Given the description of an element on the screen output the (x, y) to click on. 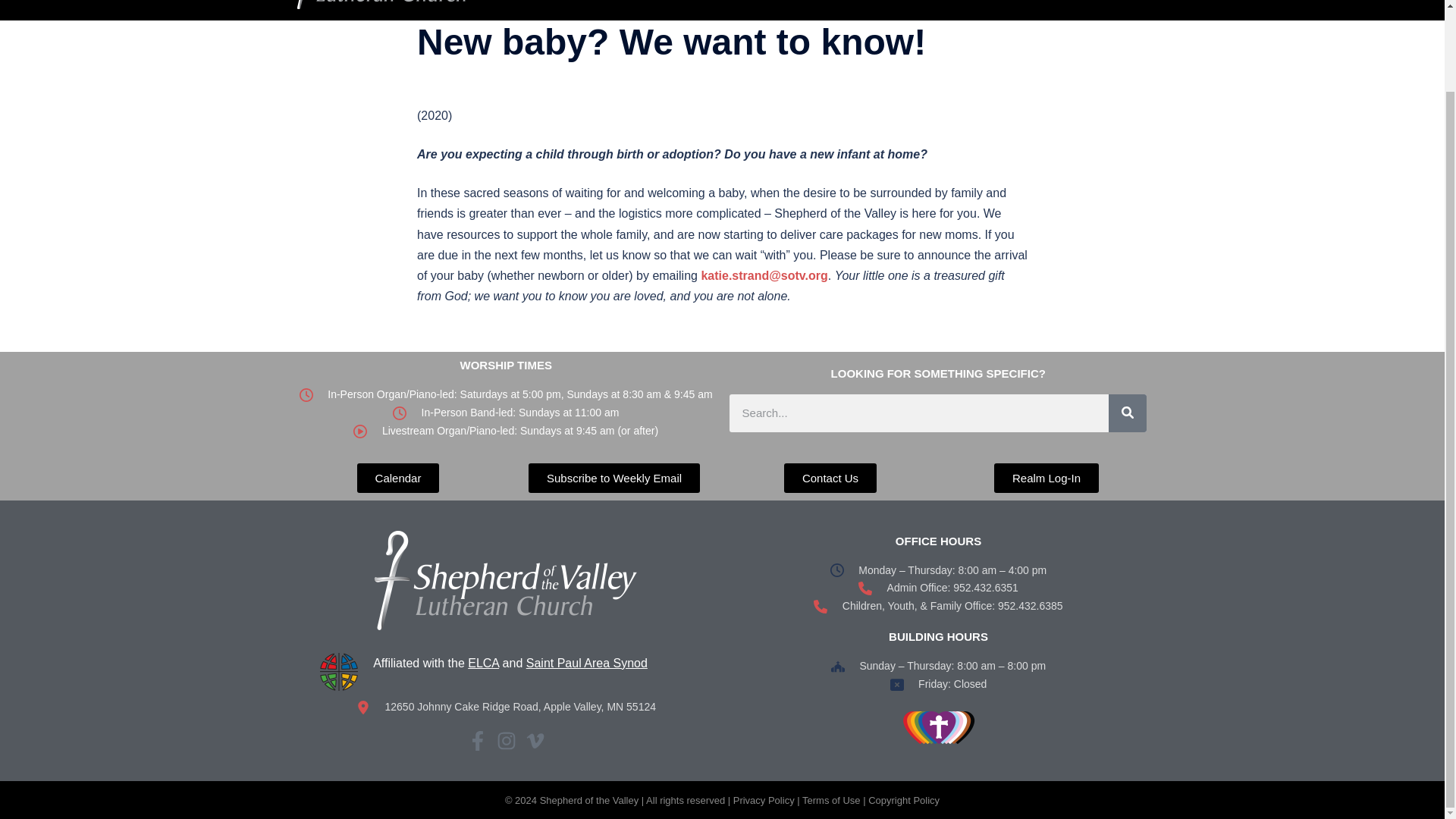
RIC 2023 purple CAPS (938, 727)
Saint Paul Area Synod (586, 662)
Calendar (397, 478)
12650 Johnny Cake Ridge Road, Apple Valley, MN 55124 (505, 707)
Realm Log-In (1046, 478)
In-Person Band-led: Sundays at 11:00 am (505, 413)
Admin Office: 952.432.6351 (938, 588)
Contact Us (830, 478)
Subscribe to Weekly Email (614, 478)
ELCA (483, 662)
